Given the description of an element on the screen output the (x, y) to click on. 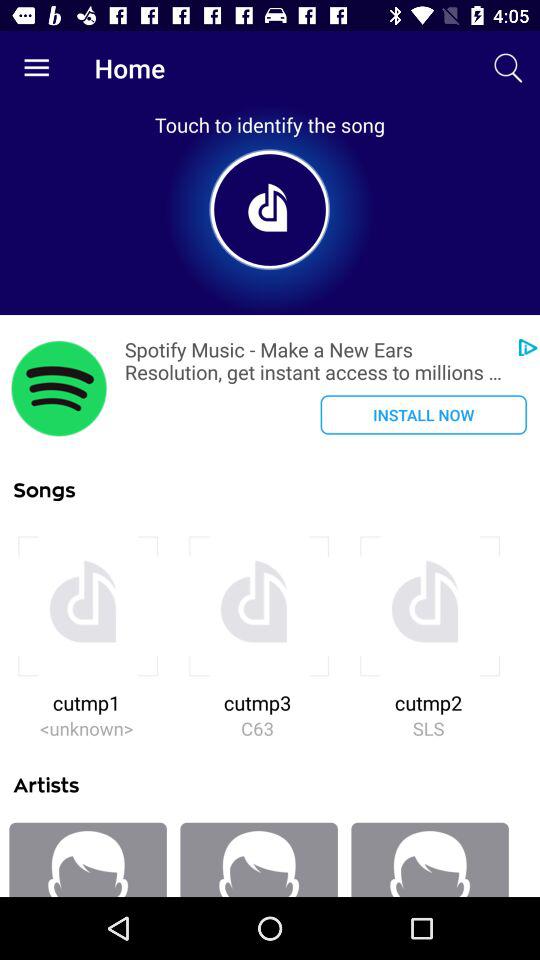
jump until spotify music make icon (315, 361)
